Given the description of an element on the screen output the (x, y) to click on. 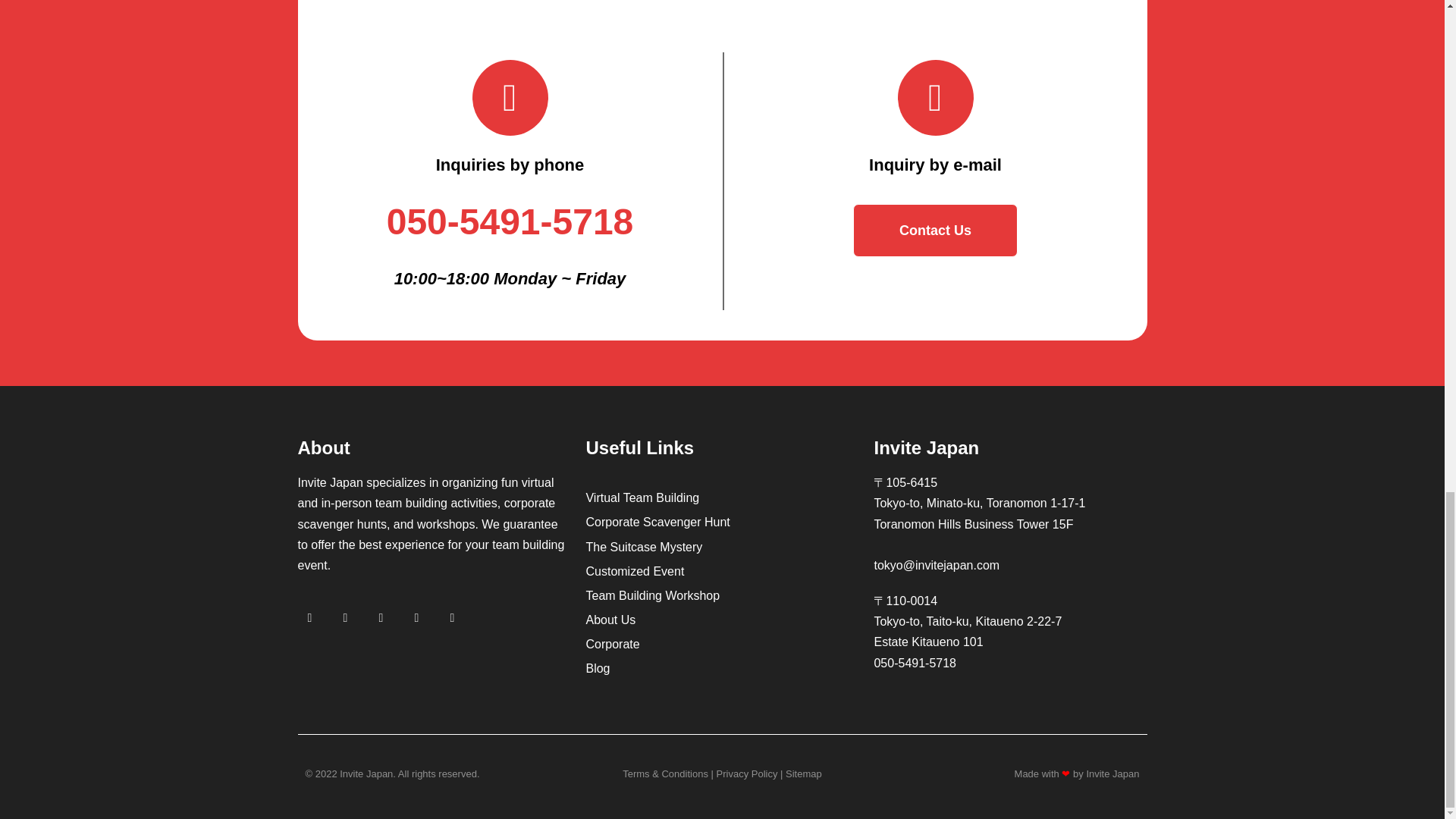
Youtube (416, 617)
The Suitcase Mystery (722, 546)
Instagram (345, 617)
Contact Us (935, 230)
Corporate Scavenger Hunt (722, 521)
Linkedin (380, 617)
Virtual Team Building (722, 497)
Facebook-f (309, 617)
050-5491-5718 (510, 221)
Twitter (451, 617)
